Given the description of an element on the screen output the (x, y) to click on. 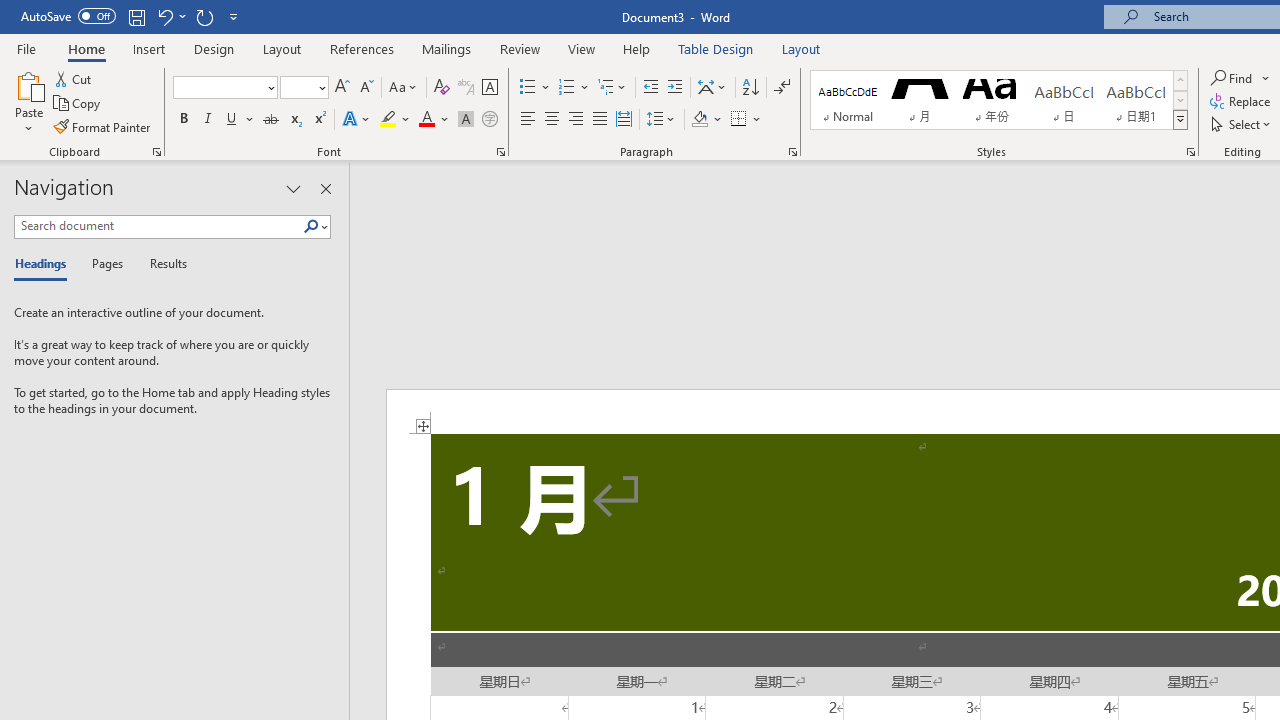
Justify (599, 119)
Multilevel List (613, 87)
Enclose Characters... (489, 119)
Undo Apply Quick Style (170, 15)
Font Color (434, 119)
Increase Indent (675, 87)
Row up (1179, 79)
Asian Layout (712, 87)
Styles (1179, 120)
Replace... (1242, 101)
Phonetic Guide... (465, 87)
